Given the description of an element on the screen output the (x, y) to click on. 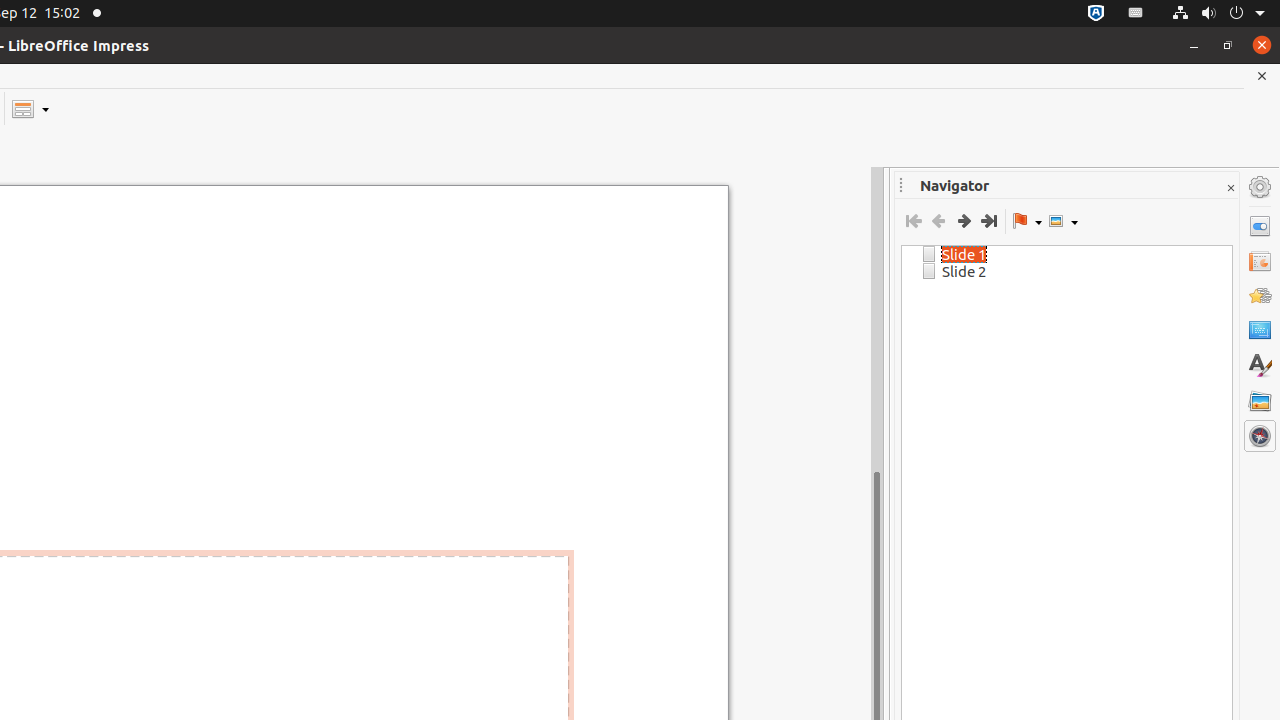
Show Shapes Element type: push-button (1063, 221)
Properties Element type: radio-button (1260, 226)
Animation Element type: radio-button (1260, 296)
Previous Slide Element type: push-button (938, 221)
Gallery Element type: radio-button (1260, 401)
